Given the description of an element on the screen output the (x, y) to click on. 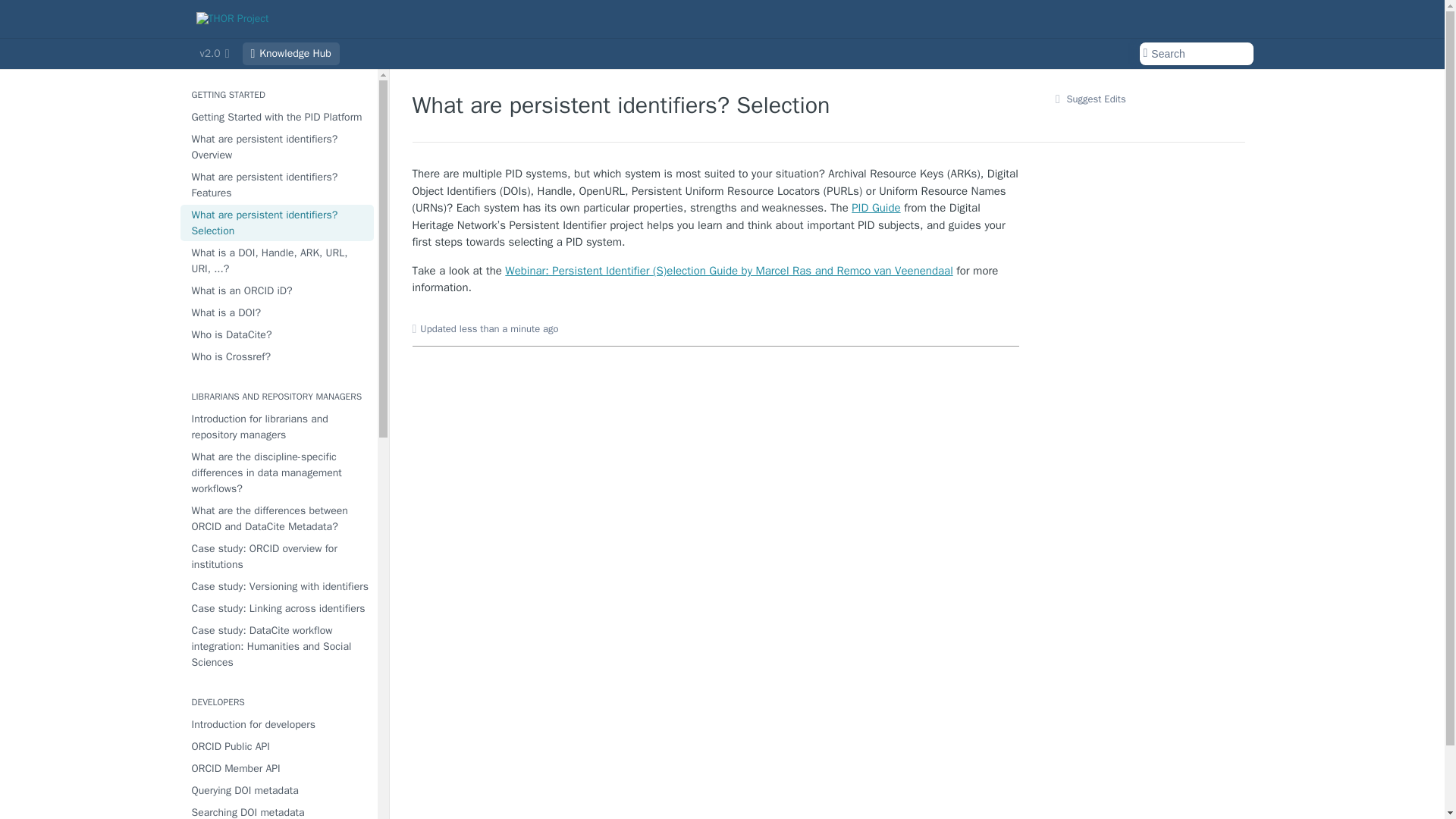
Introduction for librarians and repository managers (277, 426)
What are persistent identifiers? Overview (277, 146)
Querying DOI metadata (277, 790)
Knowledge Hub (291, 53)
Case study: Versioning with identifiers (277, 586)
Searching DOI metadata (277, 810)
What is an ORCID iD? (277, 290)
Case study: Linking across identifiers (277, 608)
What is a DOI, Handle, ARK, URL, URI, ...? (277, 260)
